Given the description of an element on the screen output the (x, y) to click on. 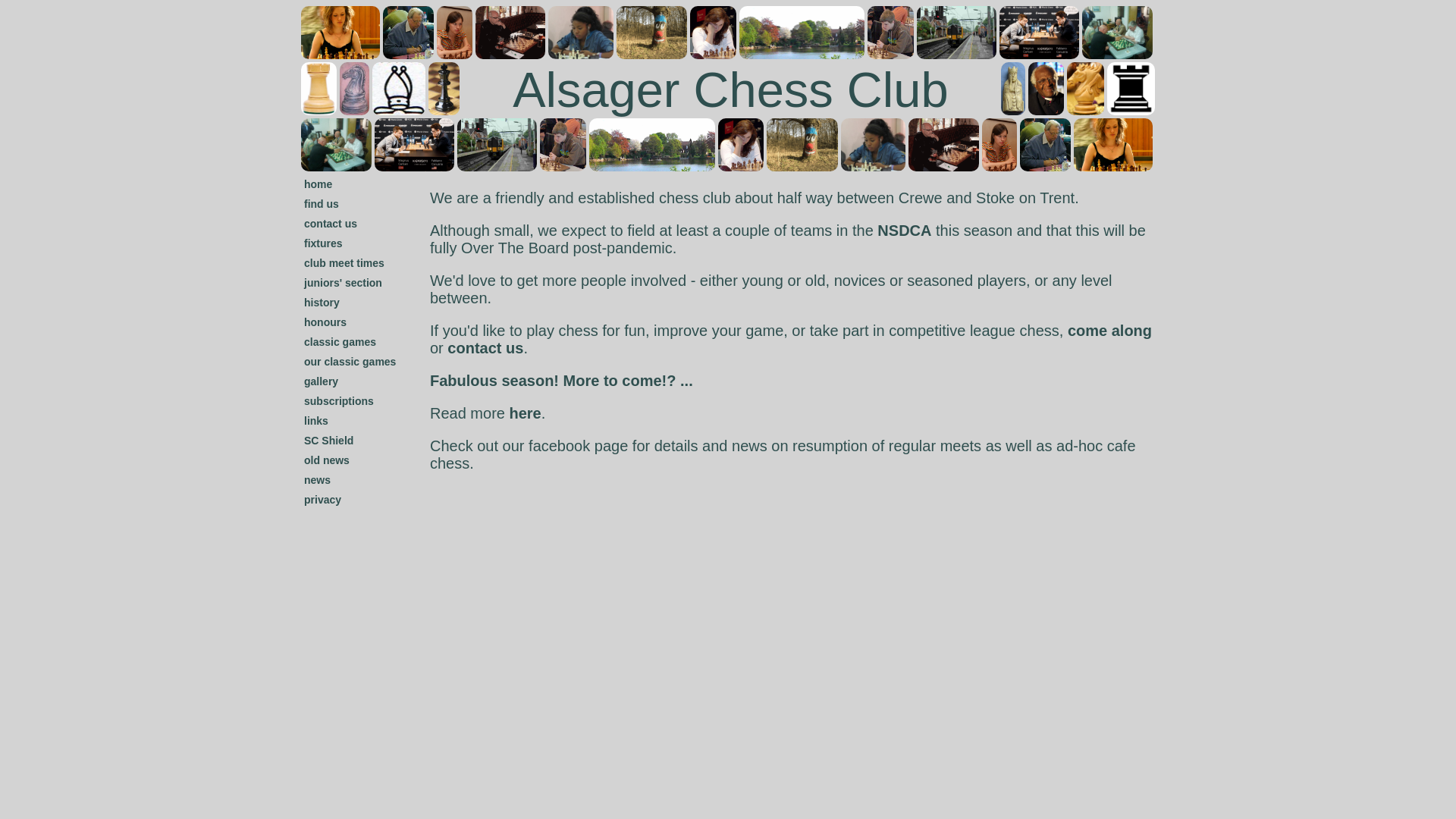
home (317, 184)
club meet times (344, 263)
news (317, 480)
contact us (484, 347)
our classic games (350, 361)
contact us (330, 223)
privacy (322, 499)
NSDCA (904, 230)
come along (1109, 330)
SC Shield (328, 440)
honours (325, 322)
juniors' section (342, 282)
links (316, 420)
find us (321, 203)
fixtures (323, 243)
